Given the description of an element on the screen output the (x, y) to click on. 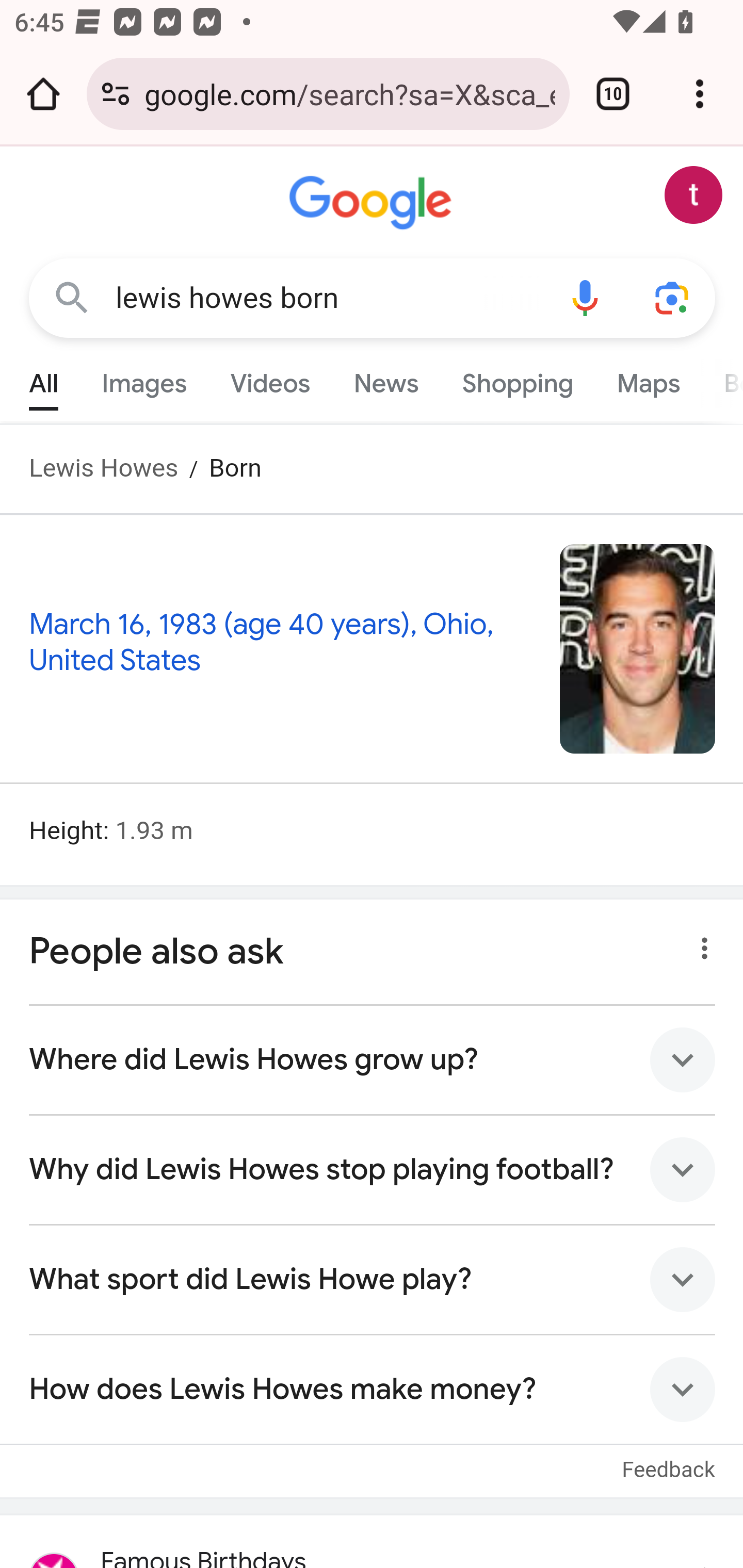
Open the home page (43, 93)
Connection is secure (115, 93)
Switch or close tabs (612, 93)
Customize and control Google Chrome (699, 93)
Google (372, 203)
Google Search (71, 296)
Search using your camera or photos (672, 296)
lewis howes born (328, 297)
Images (144, 378)
Videos (270, 378)
News (385, 378)
Shopping (516, 378)
Maps (647, 378)
March 16, 1983 (age 40 years), Ohio, United States (261, 641)
About this result (698, 942)
Where did Lewis Howes grow up? (372, 1059)
Why did Lewis Howes stop playing football? (372, 1168)
What sport did Lewis Howe play? (372, 1279)
How does Lewis Howes make money? (372, 1389)
Feedback (669, 1458)
